Given the description of an element on the screen output the (x, y) to click on. 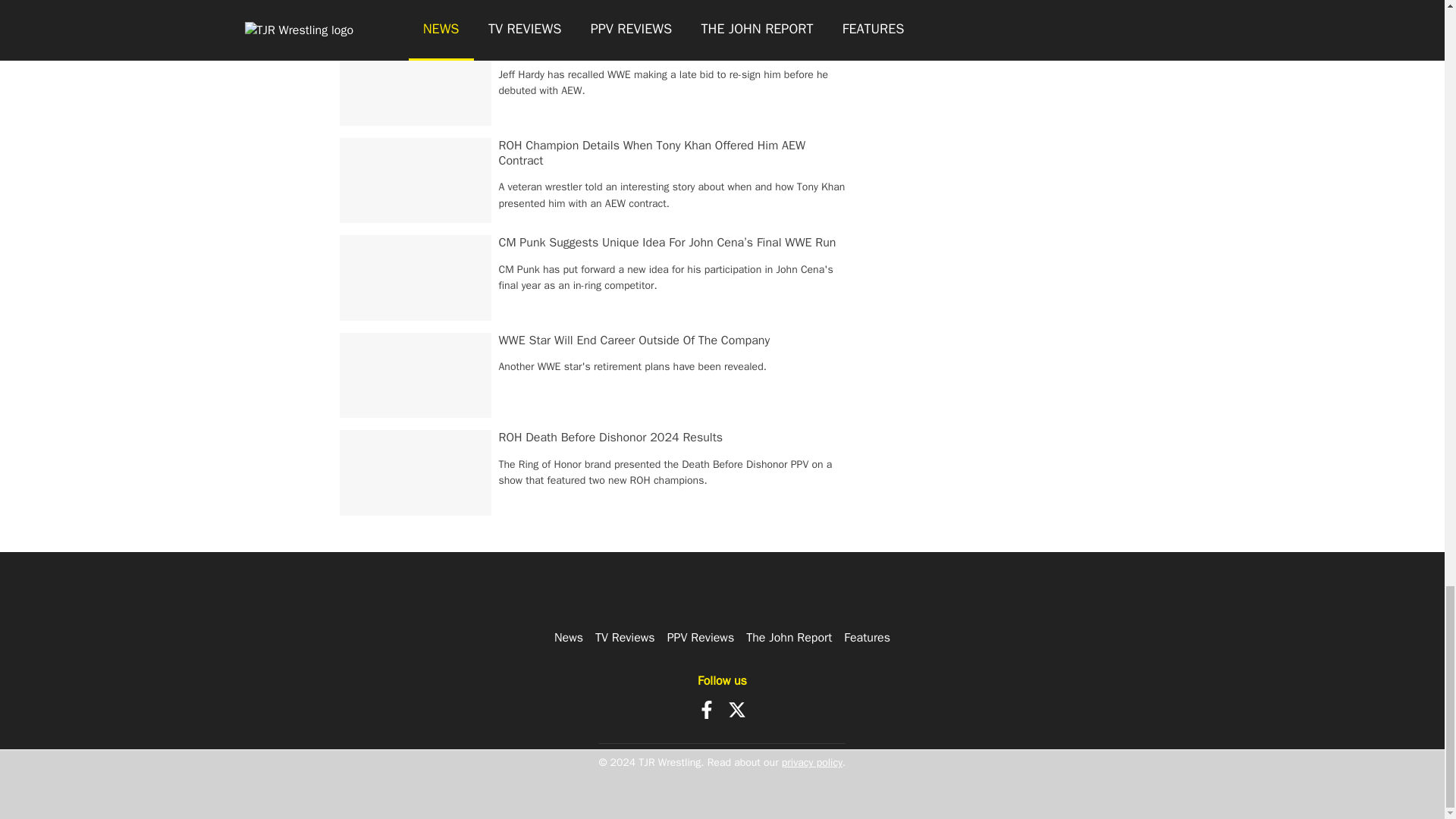
WWE Star Will End Career Outside Of The Company (634, 340)
ROH Champion Details When Tony Khan Offered Him AEW Contract (652, 153)
X (736, 710)
Jeff Hardy Cried After WWE Pitch To Re-Sign Him (627, 47)
Facebook (706, 710)
